Given the description of an element on the screen output the (x, y) to click on. 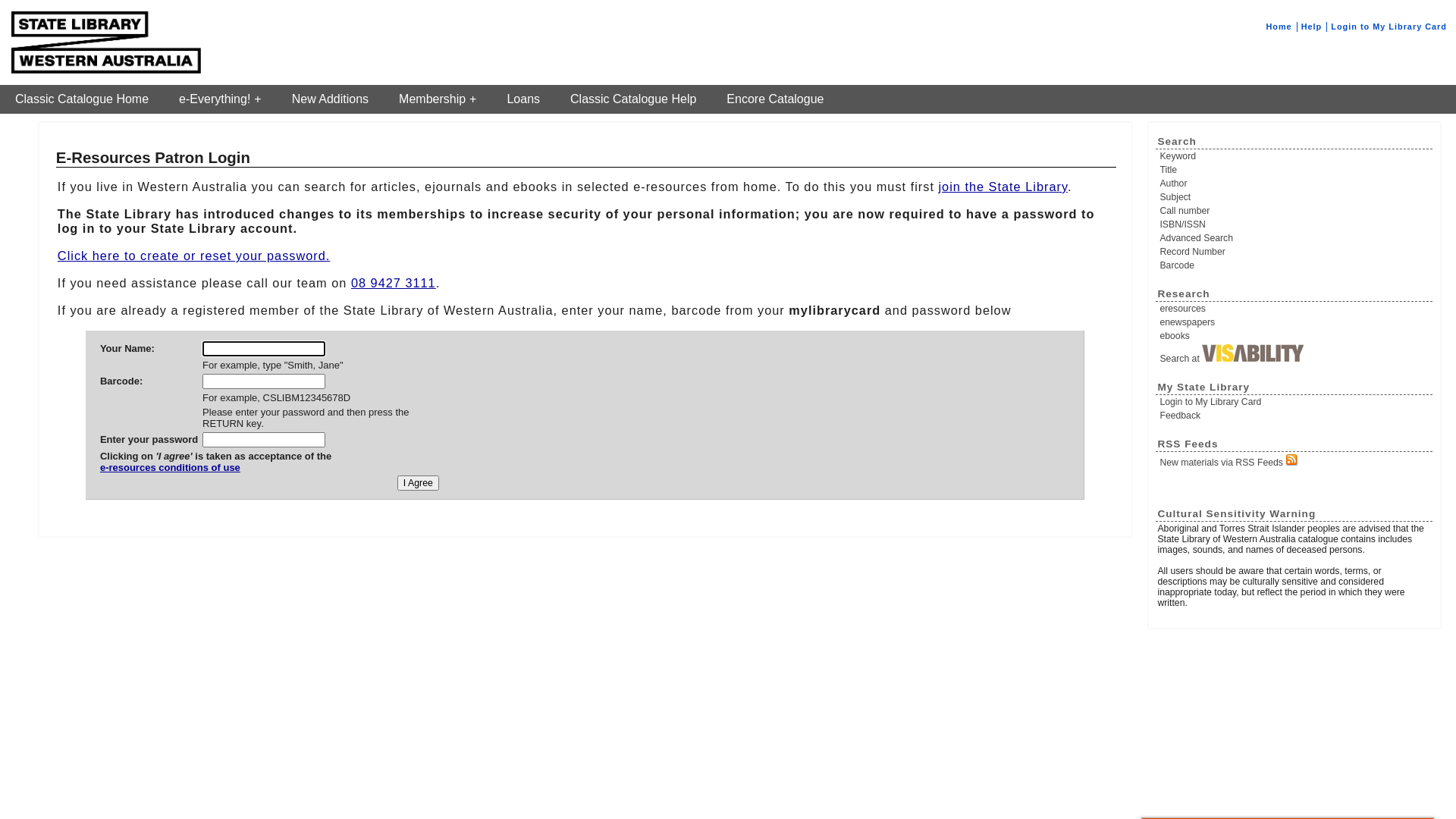
ISBN/ISSN Element type: text (1294, 224)
Title Element type: text (1294, 169)
e-resources conditions of use Element type: text (215, 472)
Classic Catalogue Help Element type: text (633, 98)
Call number Element type: text (1294, 210)
join the State Library Element type: text (1002, 186)
Login to My Library Card Element type: text (1294, 401)
enewspapers Element type: text (1294, 321)
Search at Element type: text (1294, 354)
I Agree Element type: text (418, 482)
New materials via RSS Feeds Element type: text (1294, 460)
Classic Catalogue Home Element type: text (81, 98)
Author Element type: text (1294, 183)
ebooks Element type: text (1294, 335)
Advanced Search Element type: text (1294, 237)
Home Element type: text (1278, 26)
Feedback Element type: text (1294, 415)
08 9427 3111 Element type: text (393, 282)
Help Element type: text (1311, 26)
Click here to create or reset your password. Element type: text (193, 255)
Barcode Element type: text (1294, 265)
Encore Catalogue Element type: text (774, 98)
Membership Element type: text (437, 98)
eresources Element type: text (1294, 308)
Subject Element type: text (1294, 196)
Loans Element type: text (523, 98)
Keyword Element type: text (1294, 155)
Login to My Library Card Element type: text (1388, 26)
e-Everything! Element type: text (219, 98)
Record Number Element type: text (1294, 251)
New Additions Element type: text (329, 98)
